Given the description of an element on the screen output the (x, y) to click on. 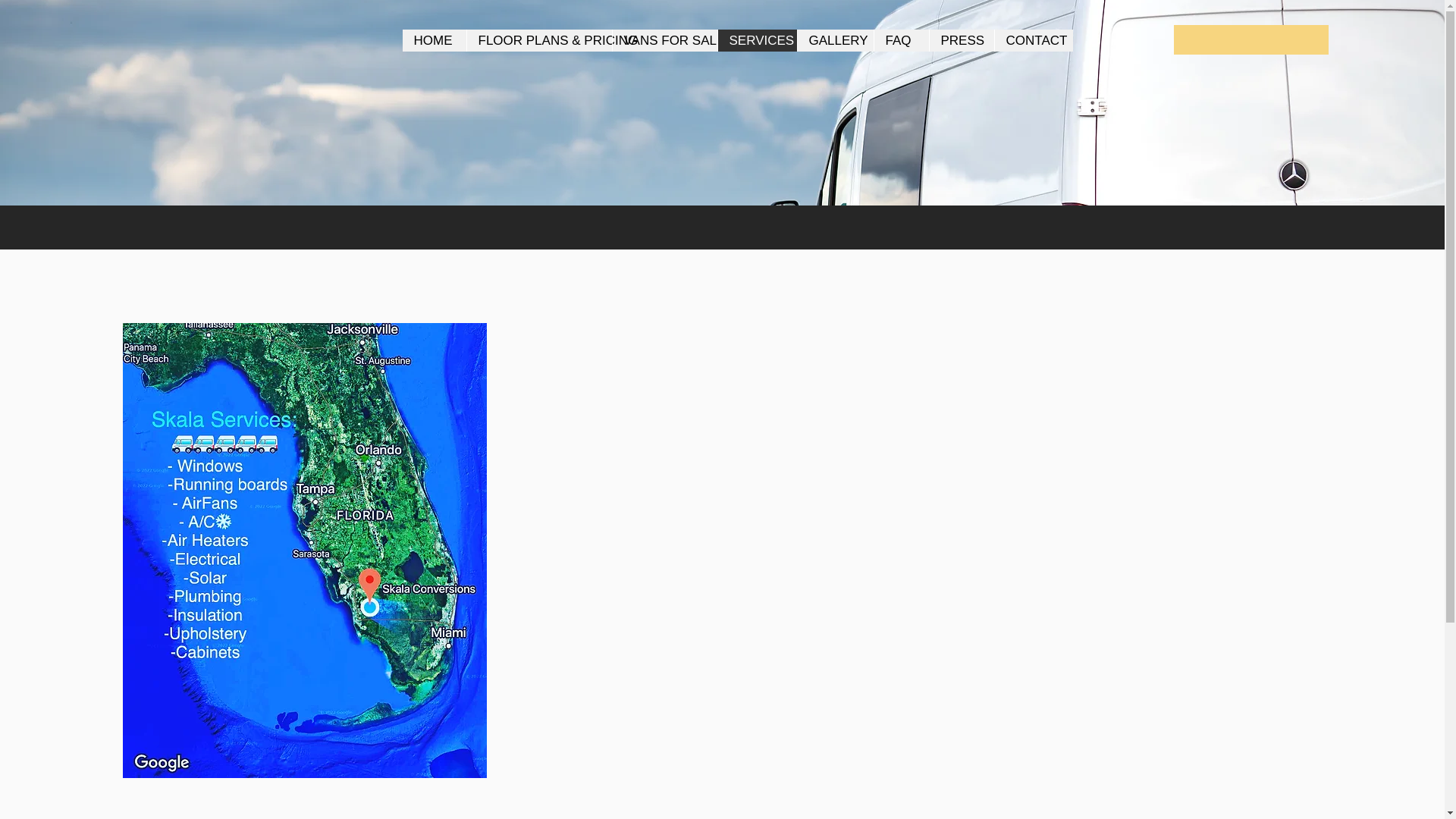
VANS FOR SALE (663, 40)
PRESS (960, 40)
HOME (433, 40)
FAQ (900, 40)
CONTACT (1031, 40)
GALLERY (834, 40)
SERVICES (756, 40)
